Given the description of an element on the screen output the (x, y) to click on. 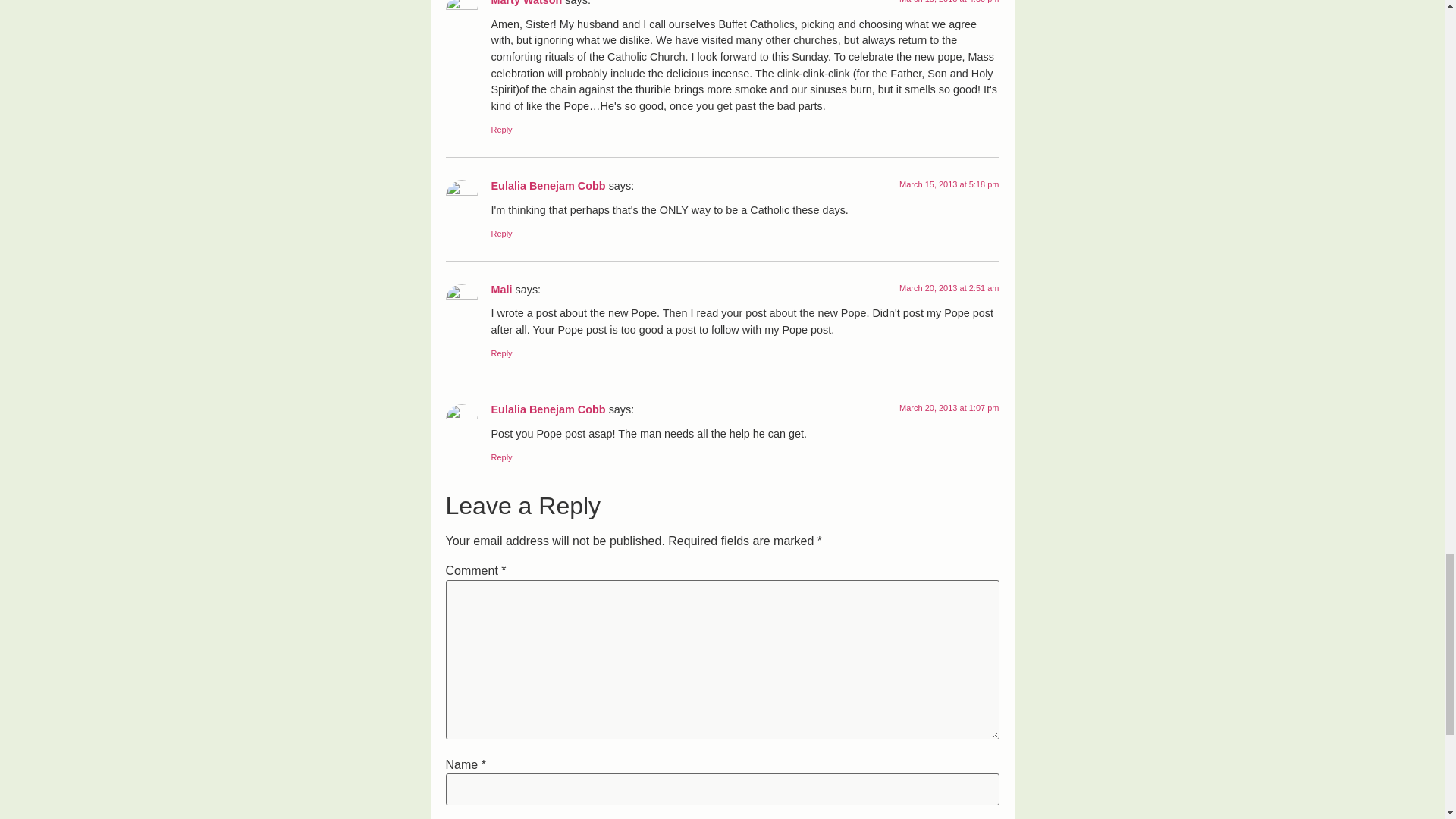
Reply (502, 233)
March 15, 2013 at 4:30 pm (948, 1)
Eulalia Benejam Cobb (548, 185)
Reply (502, 352)
March 20, 2013 at 2:51 am (948, 287)
Reply (502, 129)
Mali (502, 289)
Eulalia Benejam Cobb (548, 409)
Reply (502, 456)
March 20, 2013 at 1:07 pm (948, 407)
